Given the description of an element on the screen output the (x, y) to click on. 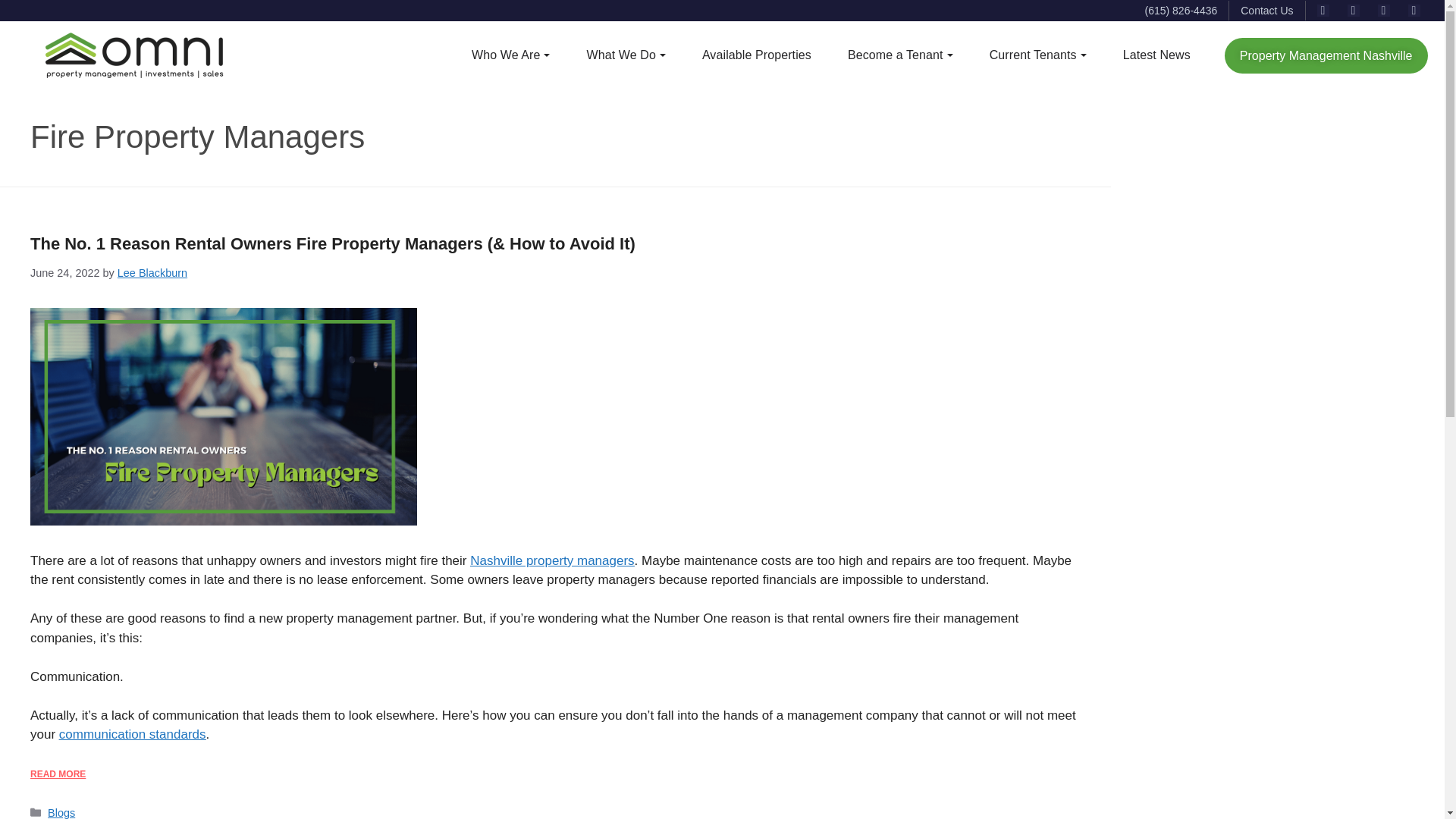
Contact Us (1266, 10)
View all posts by Lee Blackburn (152, 272)
